Given the description of an element on the screen output the (x, y) to click on. 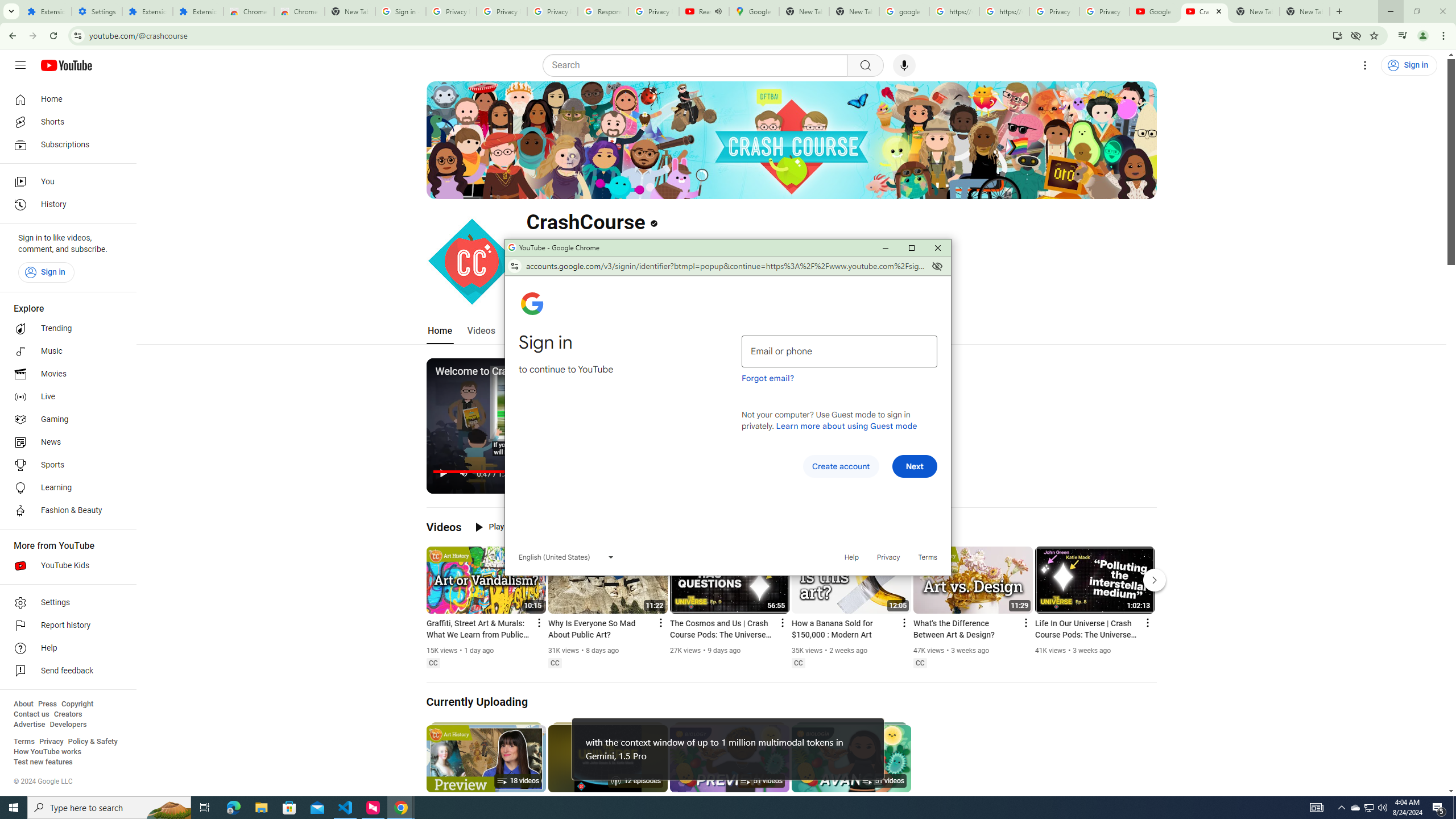
Show desktop (1454, 807)
Mute (m) (463, 472)
About (23, 703)
Home (440, 330)
Sports (64, 464)
Task View (204, 807)
Notification Chevron (1341, 807)
Privacy (888, 556)
File Explorer (261, 807)
Google Chrome - 2 running windows (400, 807)
Developers (68, 724)
